Given the description of an element on the screen output the (x, y) to click on. 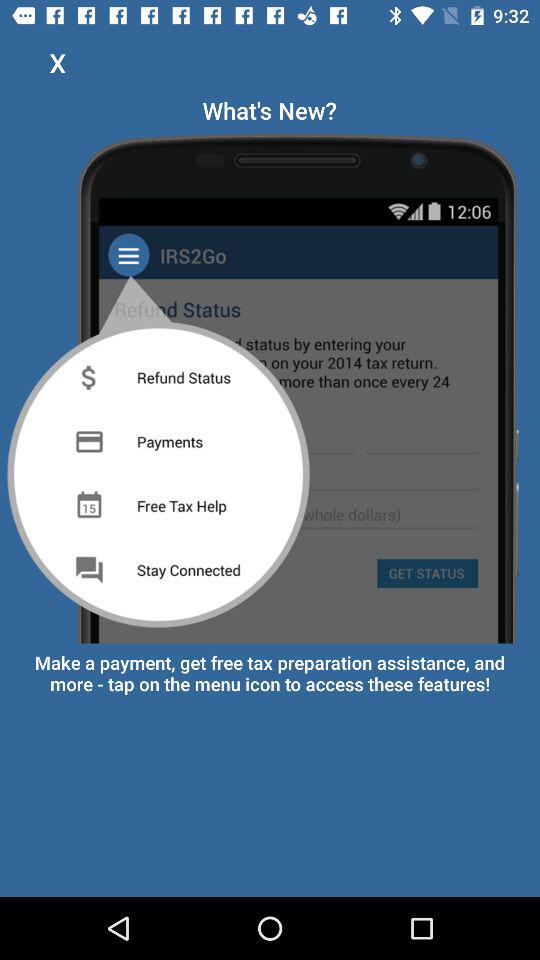
jump until x (57, 62)
